Given the description of an element on the screen output the (x, y) to click on. 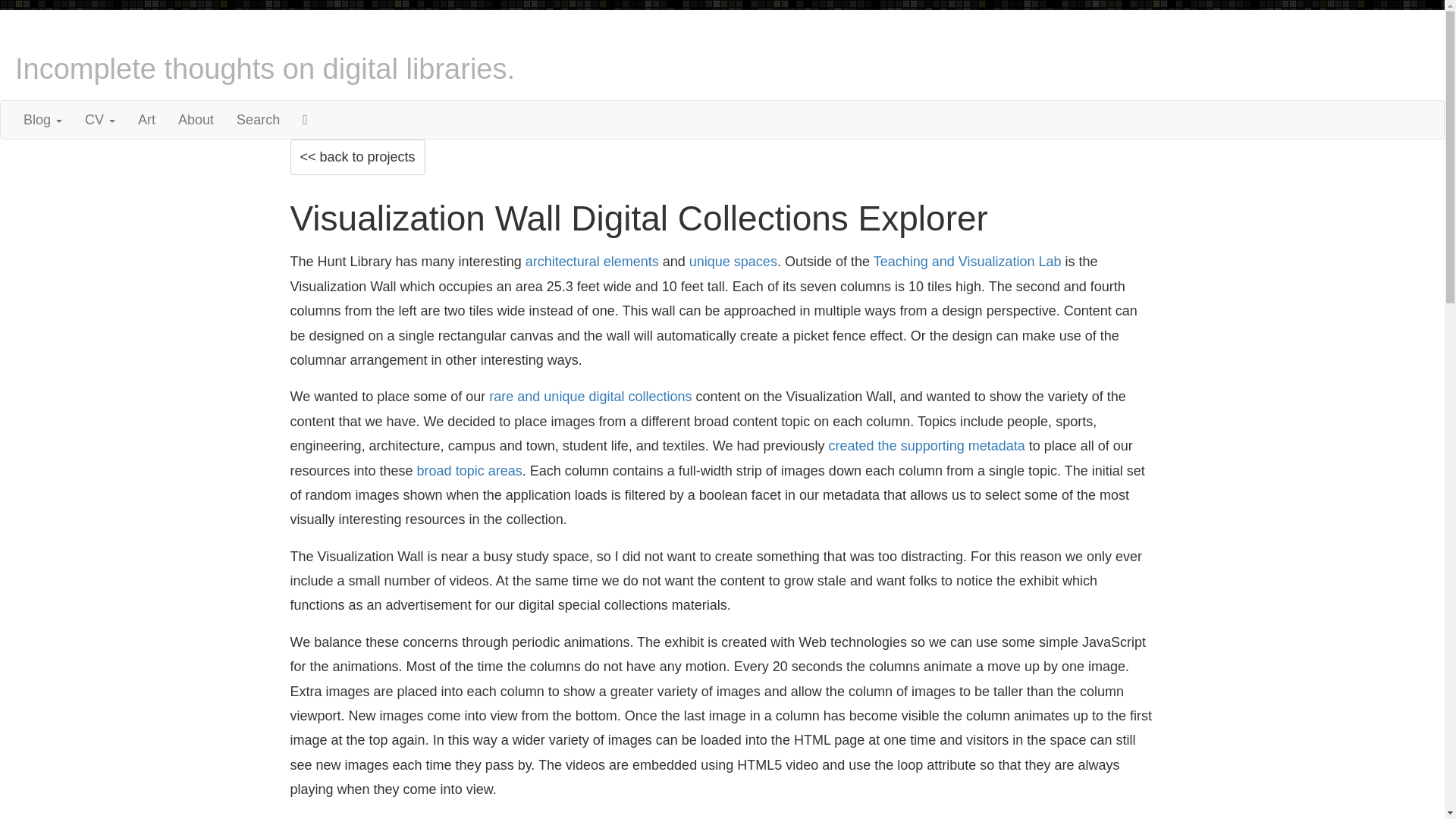
CV (100, 119)
architectural elements (592, 261)
rare and unique digital collections (590, 396)
Teaching and Visualization Lab (967, 261)
About (196, 119)
broad topic areas (469, 469)
Art (146, 119)
created the supporting metadata (926, 445)
Search (258, 119)
